Given the description of an element on the screen output the (x, y) to click on. 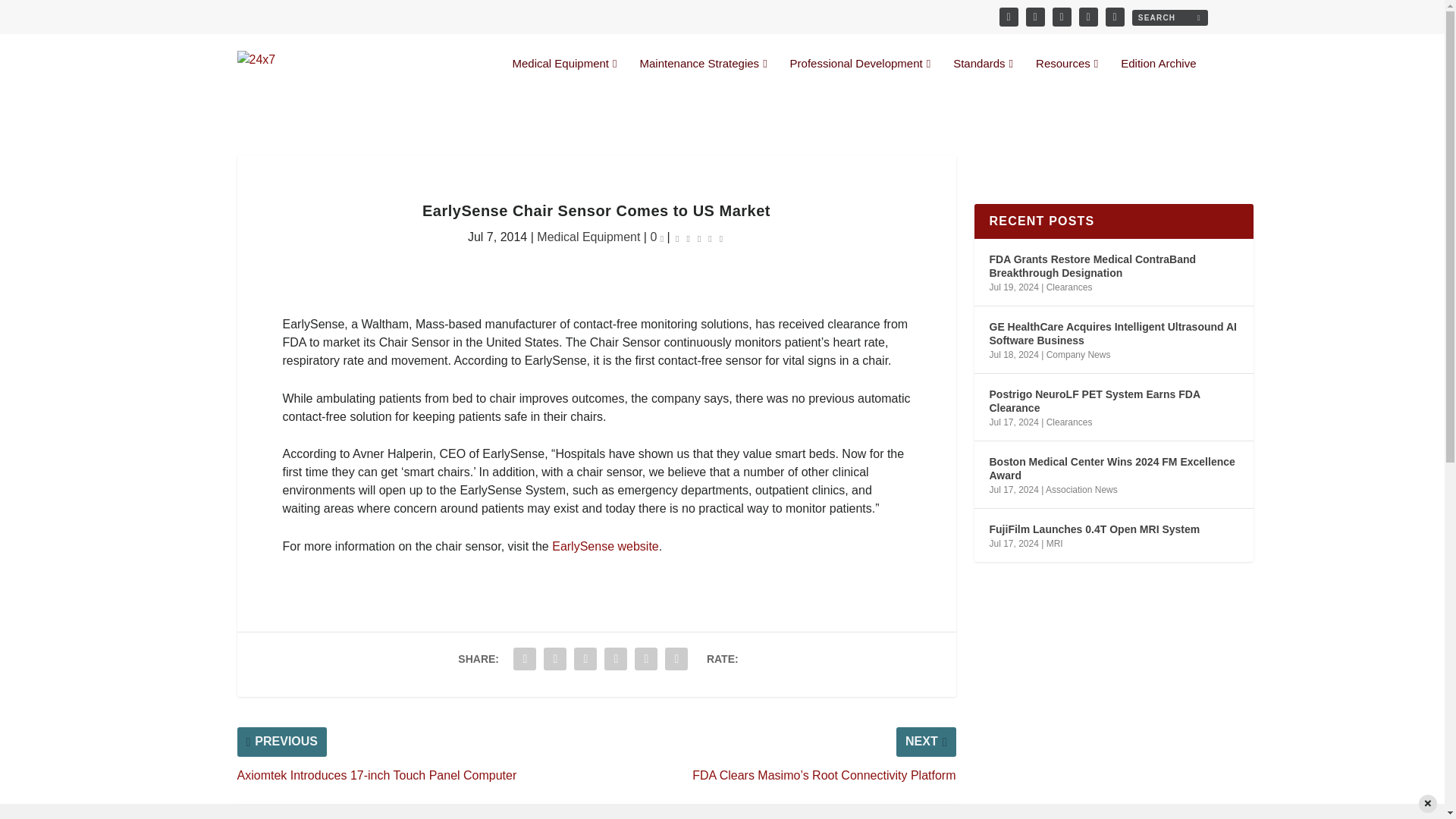
Medical Equipment (588, 236)
0 (656, 236)
Maintenance Strategies (703, 76)
More on the EarlySense Chair Sensor (605, 545)
Search for: (1169, 17)
Standards (983, 76)
Share "EarlySense Chair Sensor Comes to US Market" via Email (645, 658)
Rating: 0.00 (698, 237)
Edition Archive (1158, 76)
Share "EarlySense Chair Sensor Comes to US Market" via Print (676, 658)
EarlySense website (605, 545)
Medical Equipment (563, 76)
